Given the description of an element on the screen output the (x, y) to click on. 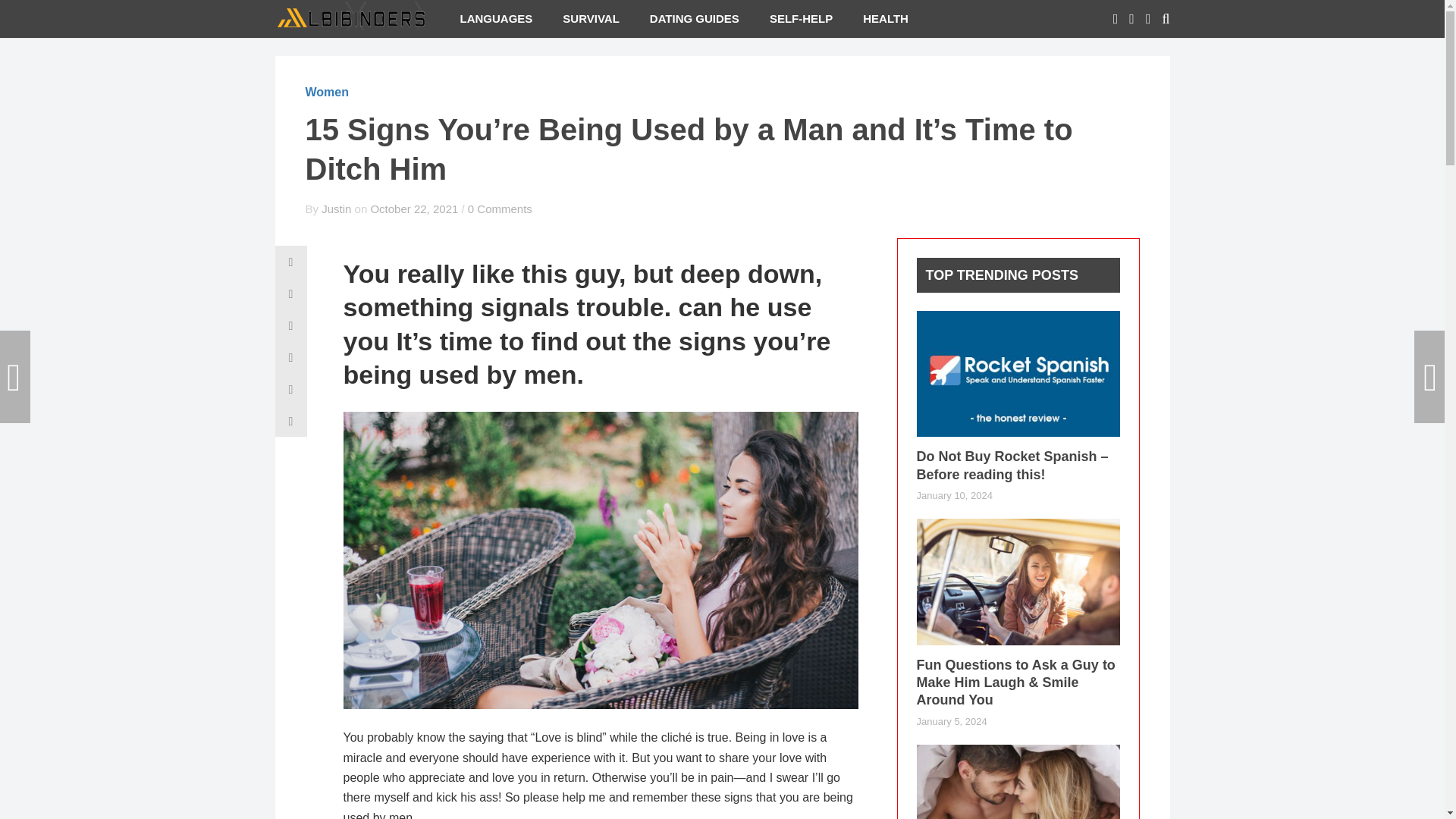
DATING GUIDES (694, 18)
SURVIVAL (590, 18)
SELF-HELP (800, 18)
LANGUAGES (495, 18)
